Given the description of an element on the screen output the (x, y) to click on. 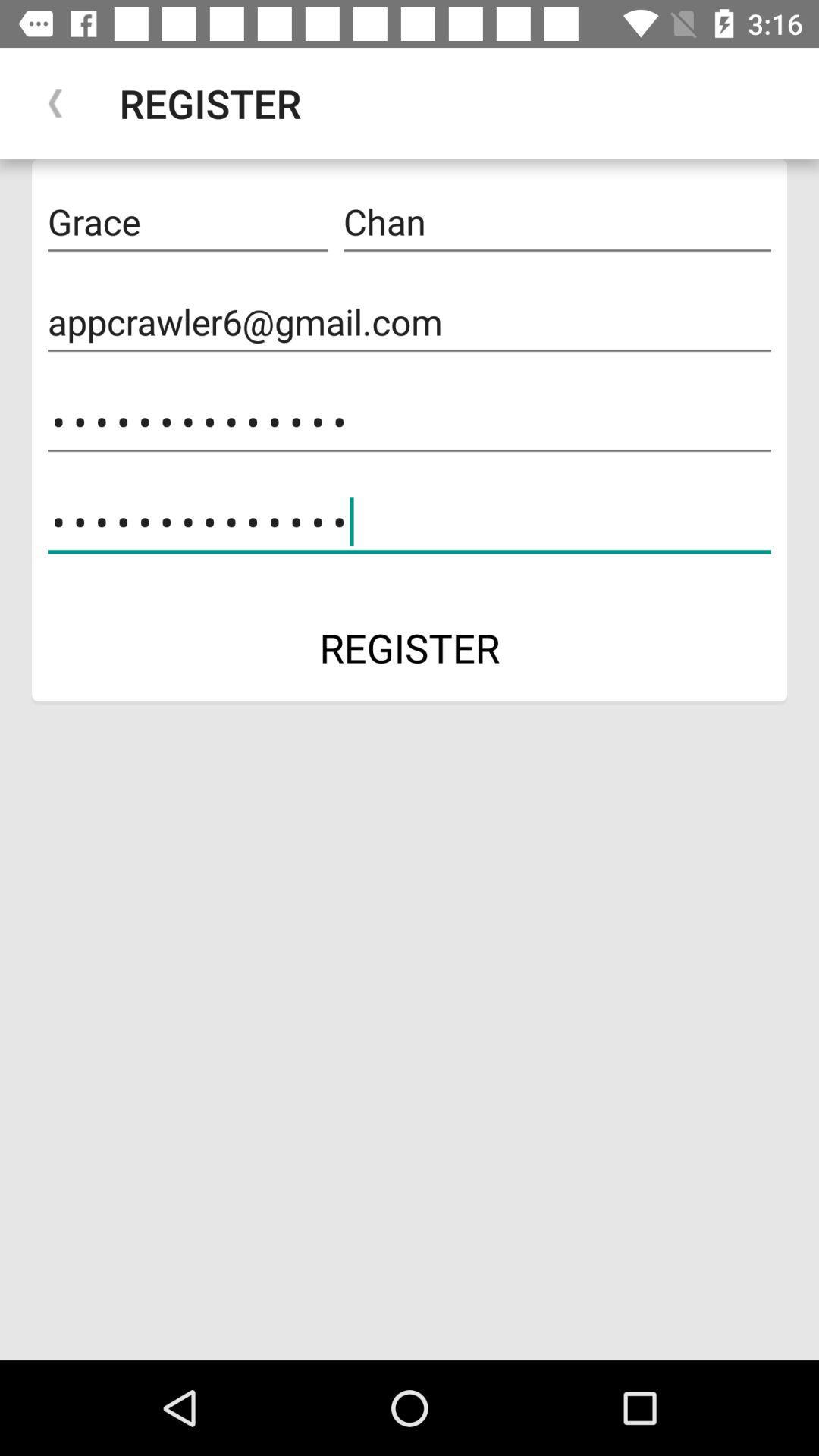
click the icon next to the chan item (187, 222)
